Given the description of an element on the screen output the (x, y) to click on. 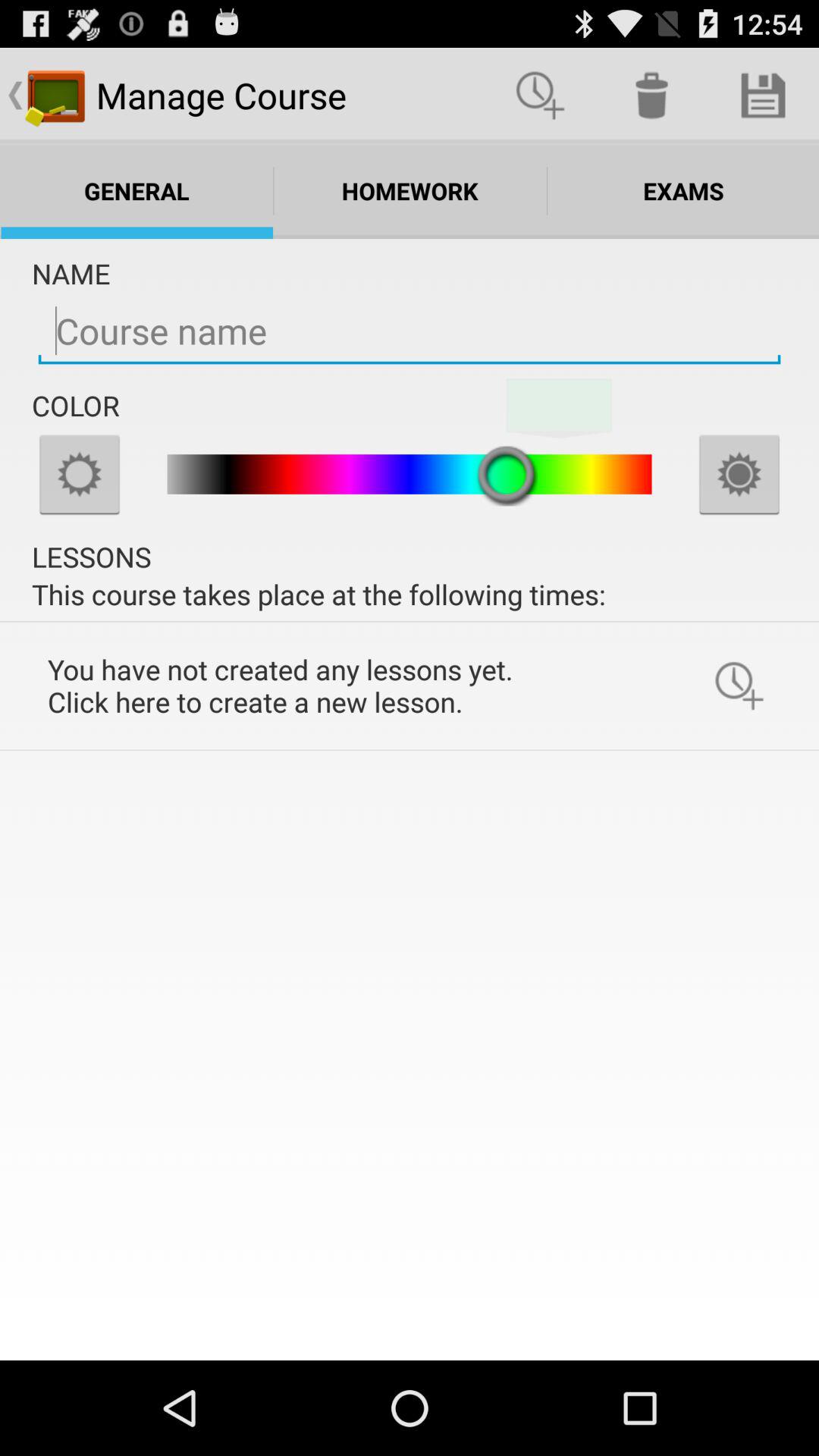
course name (409, 331)
